Given the description of an element on the screen output the (x, y) to click on. 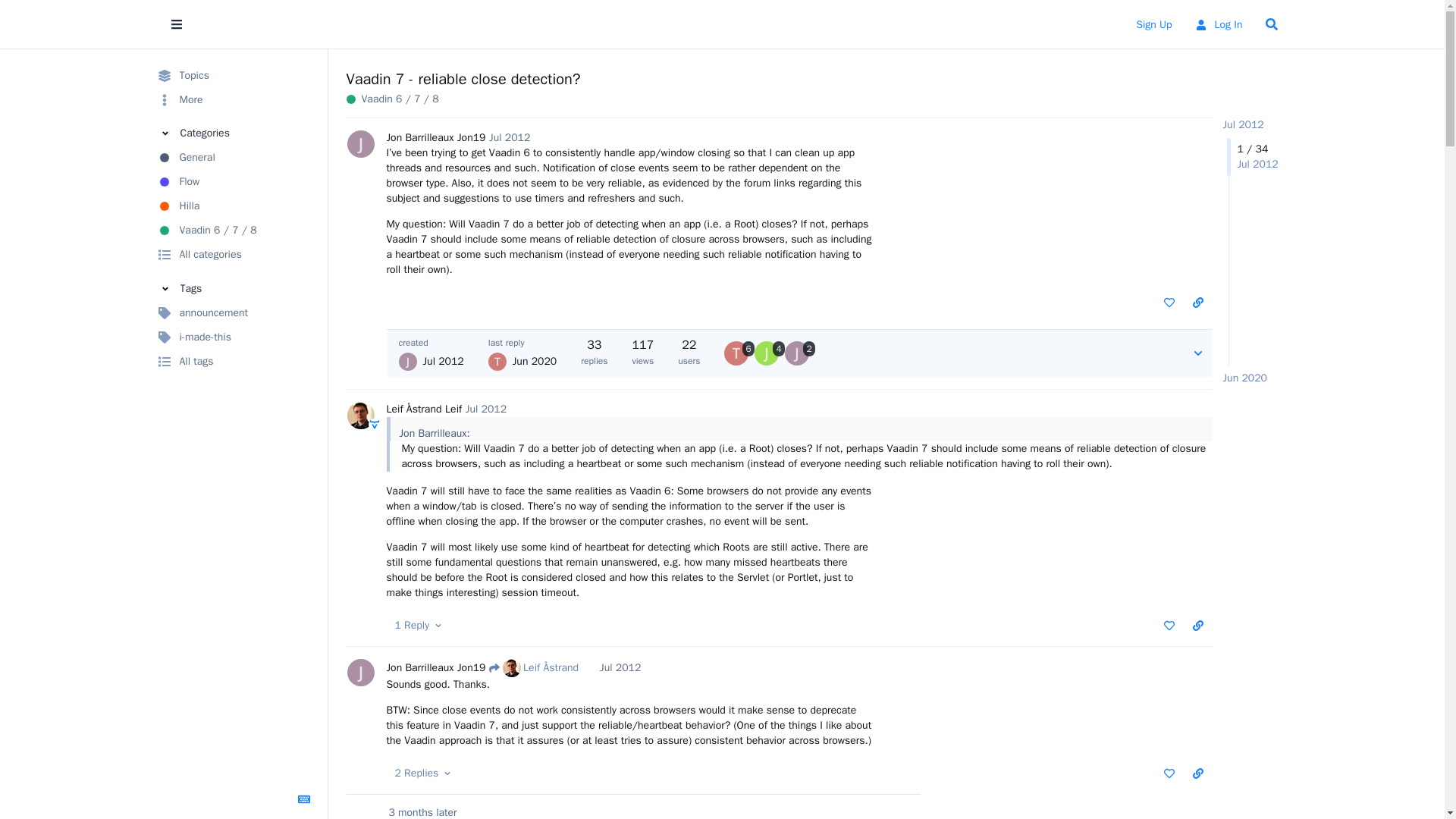
2 (799, 353)
Jun 2020 (1244, 378)
Jon19 (470, 137)
Sign Up (1152, 24)
Vaadin 7 - reliable close detection? (462, 78)
Toggle section (235, 288)
Keyboard Shortcuts (303, 799)
Jul 2012 (509, 137)
GWT-based Vaadin versions. (235, 230)
6 (738, 353)
